Given the description of an element on the screen output the (x, y) to click on. 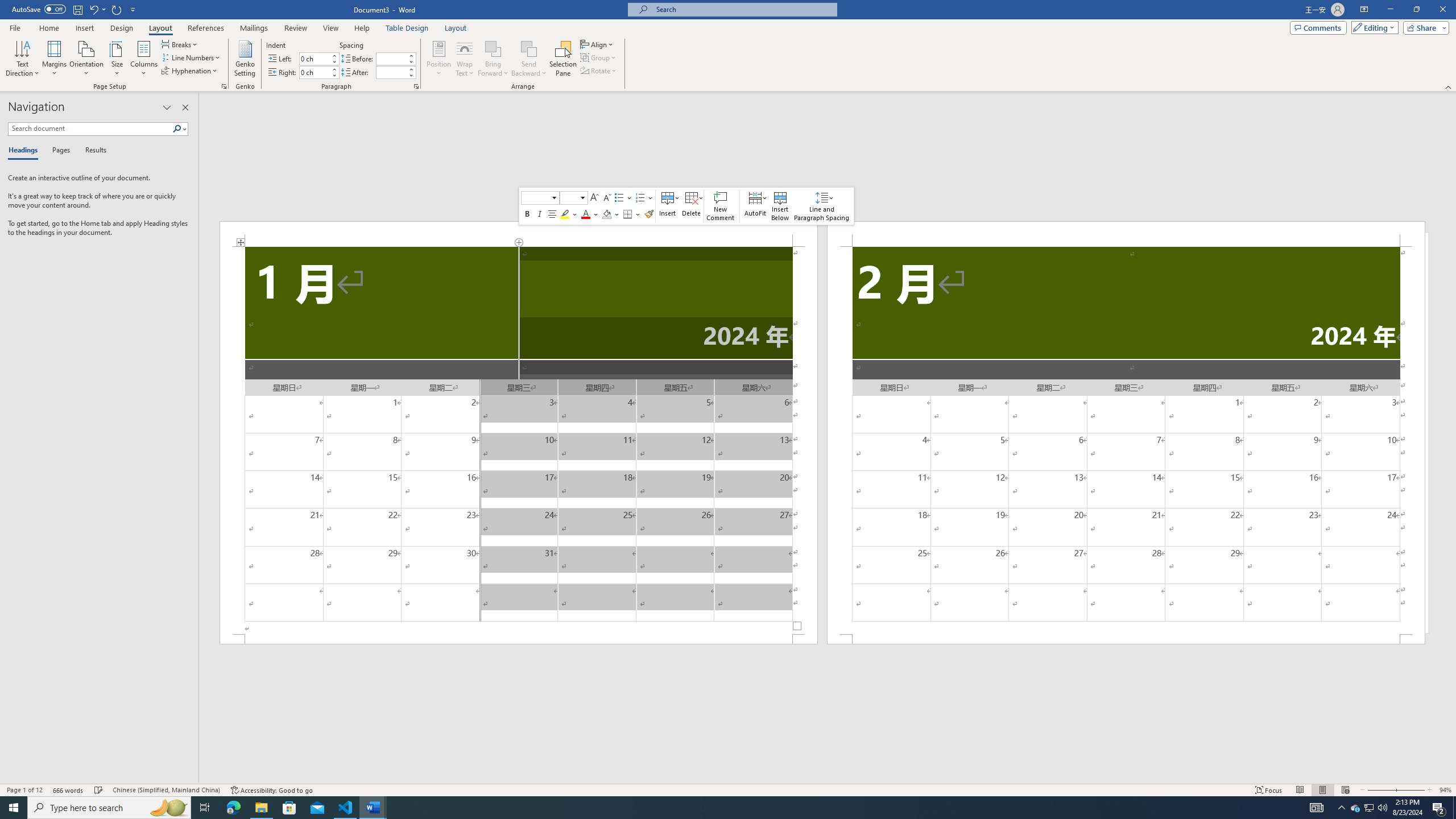
Page 1 content (518, 439)
Insert Below (780, 205)
Margins (54, 58)
AutoFit (755, 205)
Wrap Text (464, 58)
Hyphenation (189, 69)
Size (116, 58)
Page Setup... (223, 85)
